Given the description of an element on the screen output the (x, y) to click on. 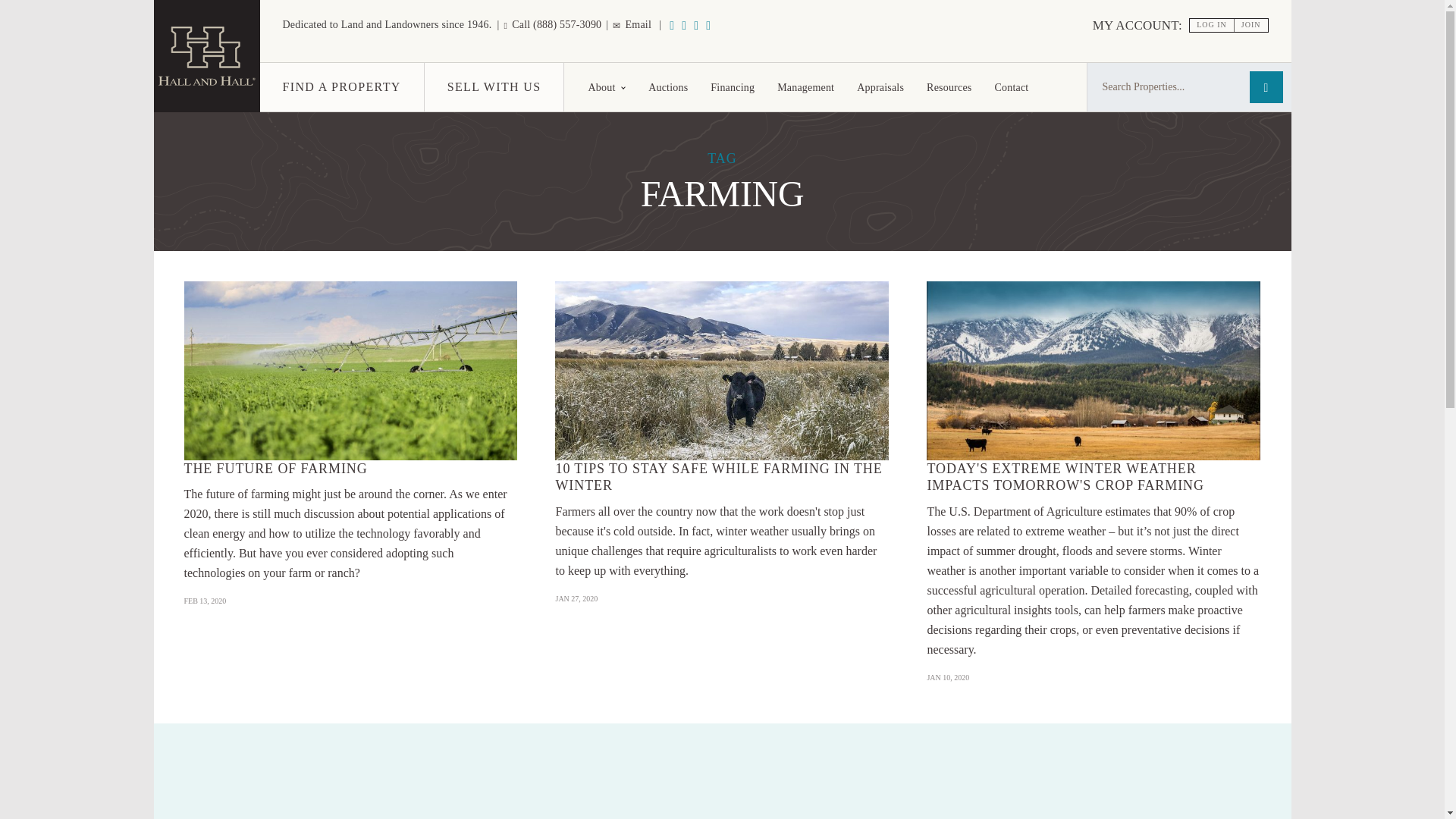
SELL WITH US (494, 87)
Hall and Hall (205, 87)
Management (805, 86)
JOIN (1251, 24)
Email (631, 24)
Hall and Hall - Ranches for Sale (205, 56)
Auctions (667, 86)
LOG IN (1211, 24)
Financing (731, 86)
